Given the description of an element on the screen output the (x, y) to click on. 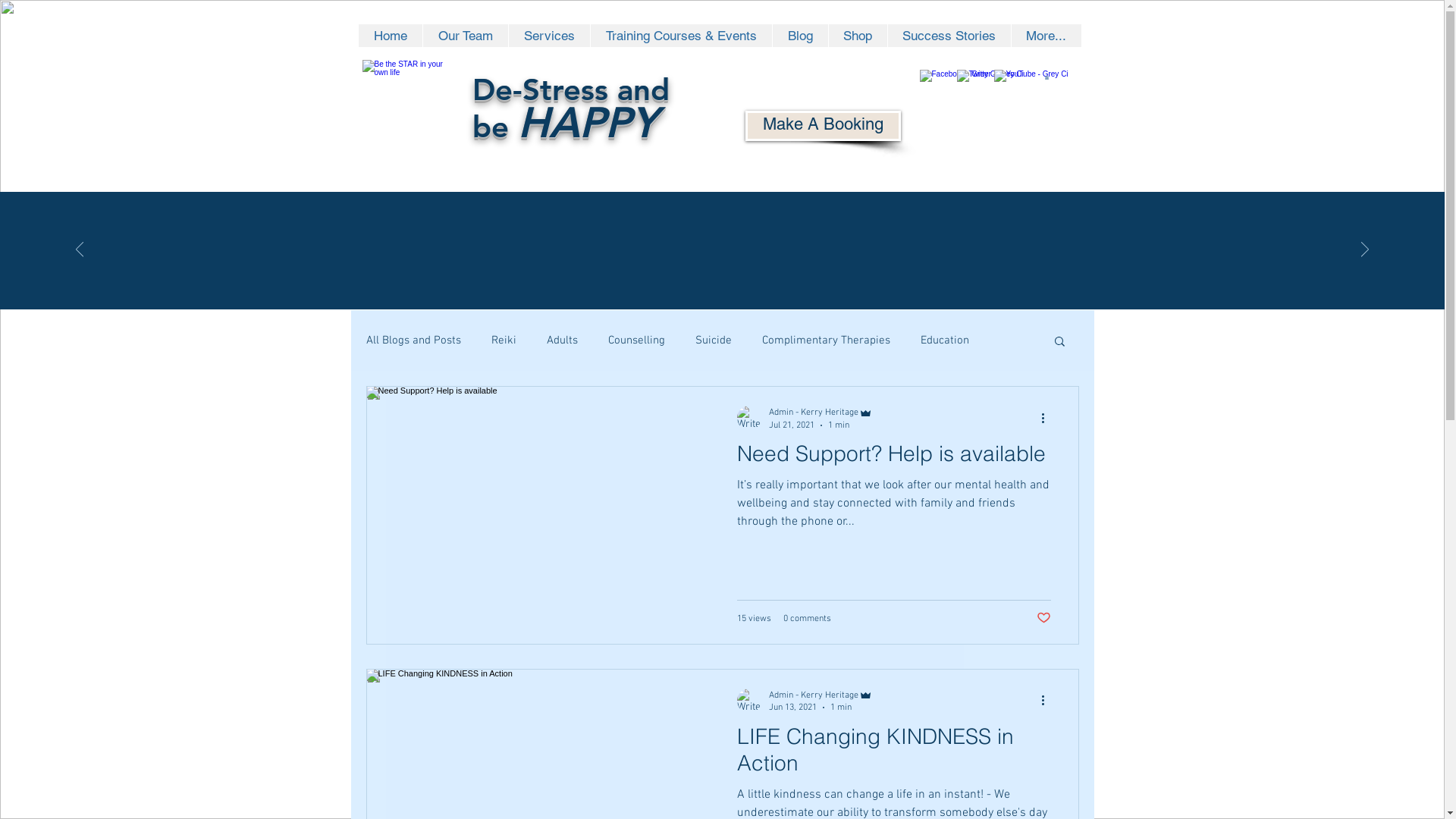
Services Element type: text (548, 35)
Need Support? Help is available Element type: text (894, 457)
Admin - Kerry Heritage Element type: text (820, 694)
Our Team Element type: text (464, 35)
Success Stories Element type: text (948, 35)
All Blogs and Posts Element type: text (412, 340)
Blog Element type: text (799, 35)
Suicide Element type: text (712, 340)
Counselling Element type: text (636, 340)
Post not marked as liked Element type: text (1042, 617)
Complimentary Therapies Element type: text (825, 340)
Shop Element type: text (857, 35)
LIFE Changing KINDNESS in Action Element type: text (894, 752)
Adults Element type: text (561, 340)
Training Courses & Events Element type: text (680, 35)
Home Element type: text (389, 35)
be HAPPY Element type: text (563, 126)
Education Element type: text (944, 340)
Admin - Kerry Heritage Element type: text (820, 411)
De-Stress and Element type: text (569, 92)
0 comments Element type: text (806, 617)
0 Element type: text (1046, 77)
Make A Booking Element type: text (822, 125)
Reiki Element type: text (503, 340)
DES0001_De-Stress-Logo-Starman_FINAL-RGB.png Element type: hover (405, 105)
